Given the description of an element on the screen output the (x, y) to click on. 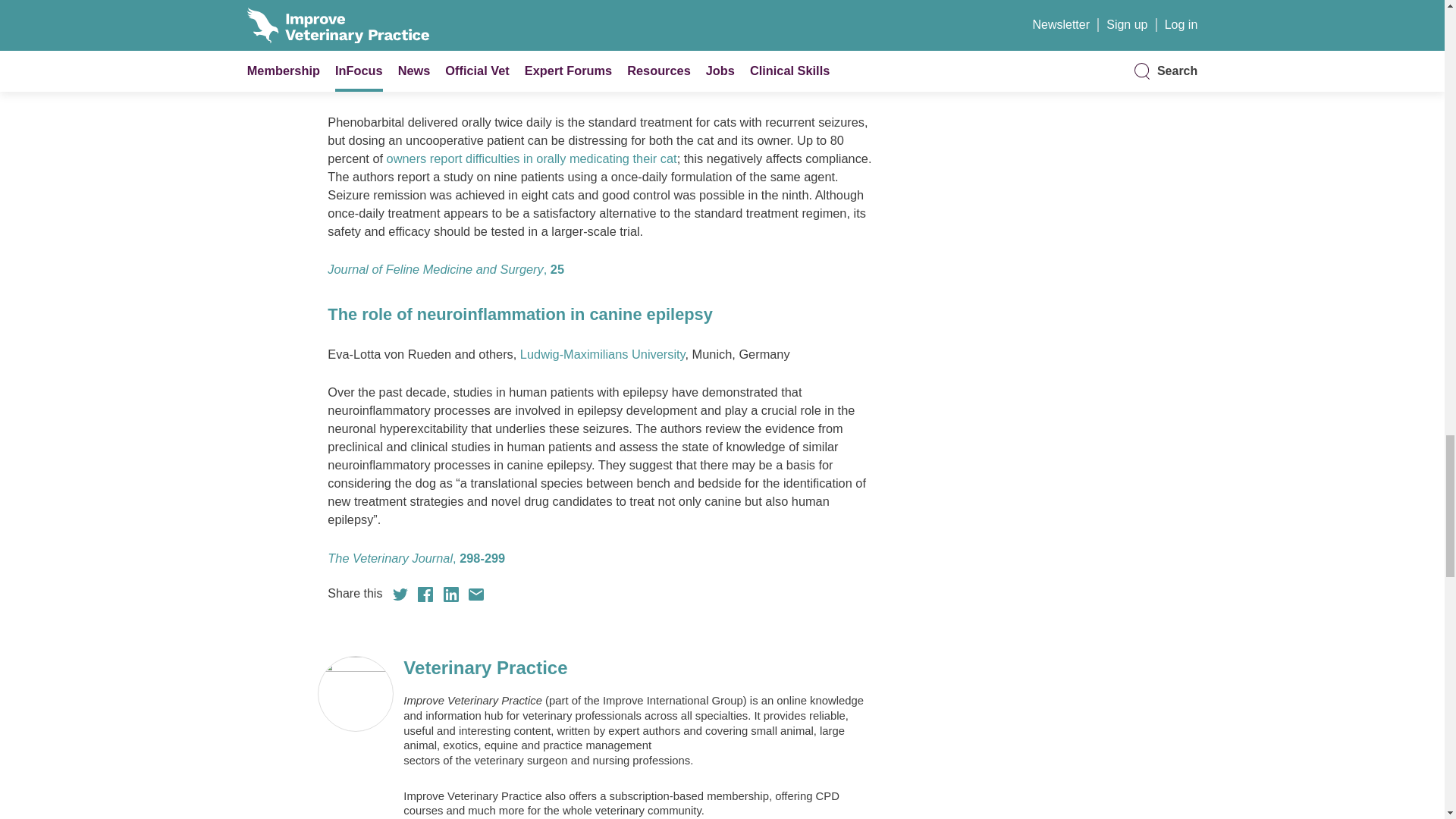
Veterinary Practice (633, 668)
Share on Facebook (424, 594)
Share via Email (475, 594)
Share on LinkedIn (451, 594)
Share on Twitter (400, 594)
